Given the description of an element on the screen output the (x, y) to click on. 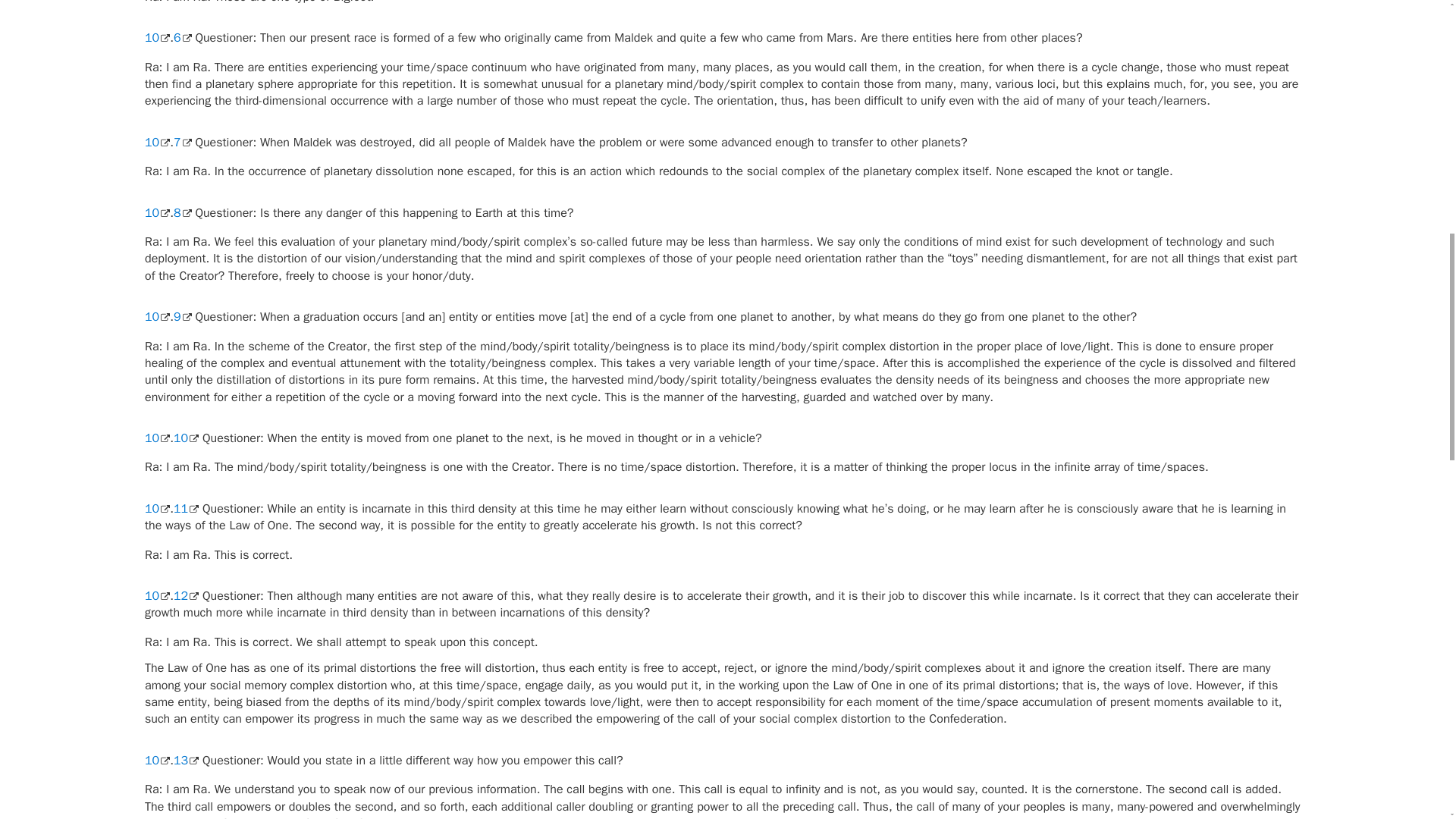
10 (157, 212)
9 (182, 316)
10 (157, 316)
10 (157, 142)
6 (182, 37)
10 (157, 37)
8 (182, 212)
10 (157, 437)
7 (182, 142)
